Given the description of an element on the screen output the (x, y) to click on. 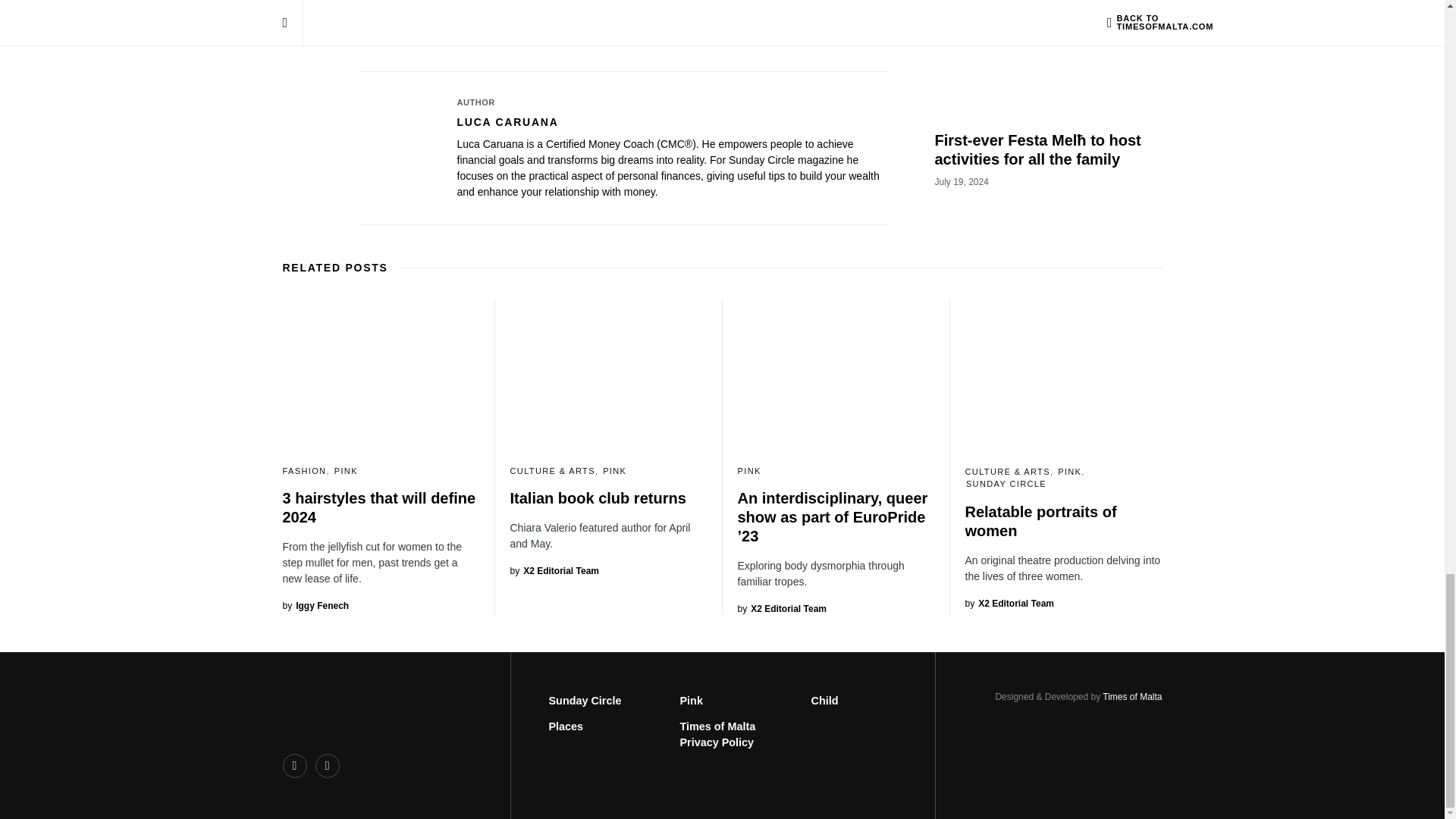
View all posts by X2 Editorial Team (781, 608)
View all posts by X2 Editorial Team (553, 571)
View all posts by X2 Editorial Team (1008, 602)
View all posts by Iggy Fenech (315, 605)
